Given the description of an element on the screen output the (x, y) to click on. 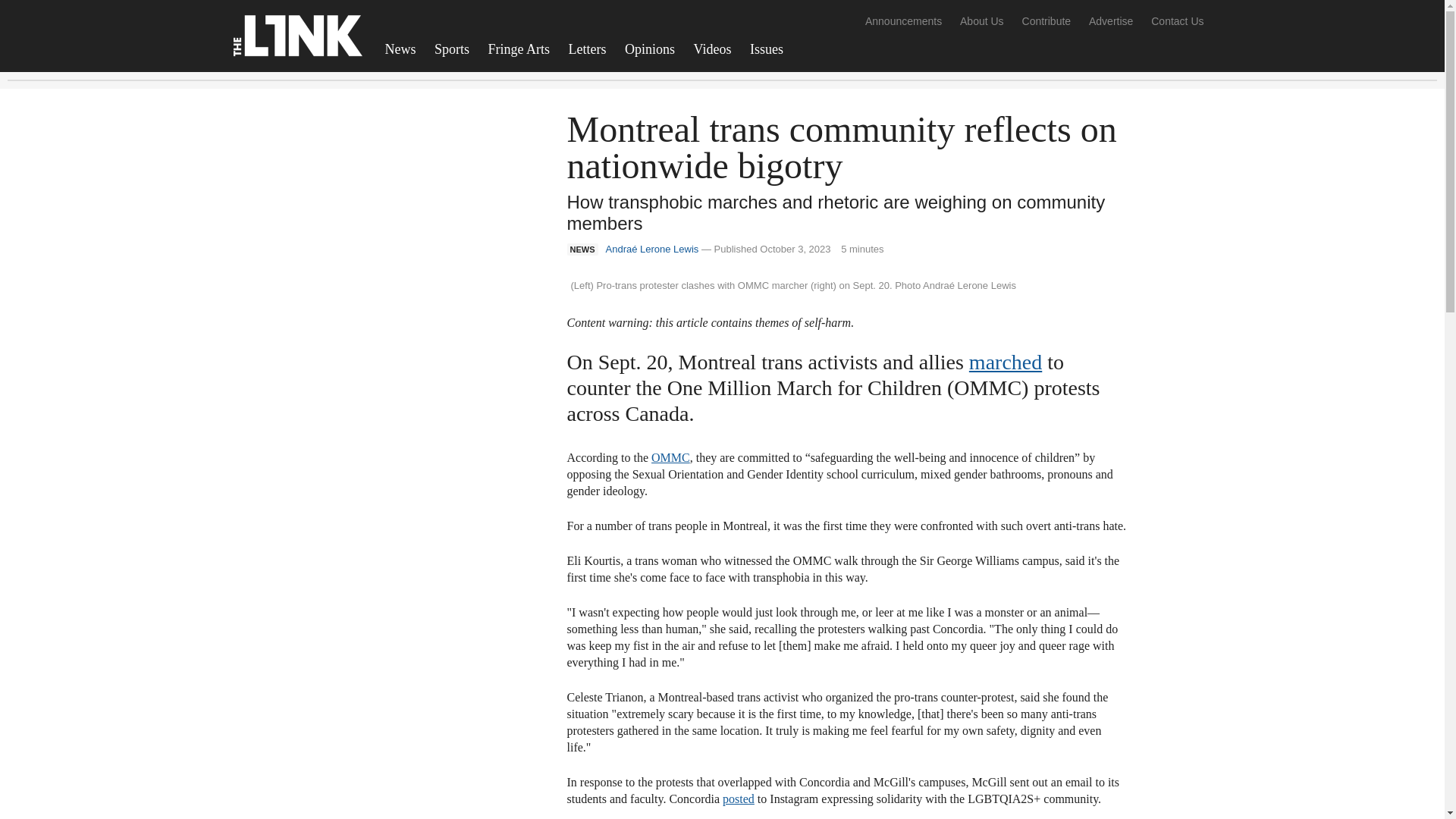
News (400, 49)
Letters (587, 49)
Opinions (649, 49)
Videos (712, 49)
Fringe Arts (518, 49)
Sports (451, 49)
